Given the description of an element on the screen output the (x, y) to click on. 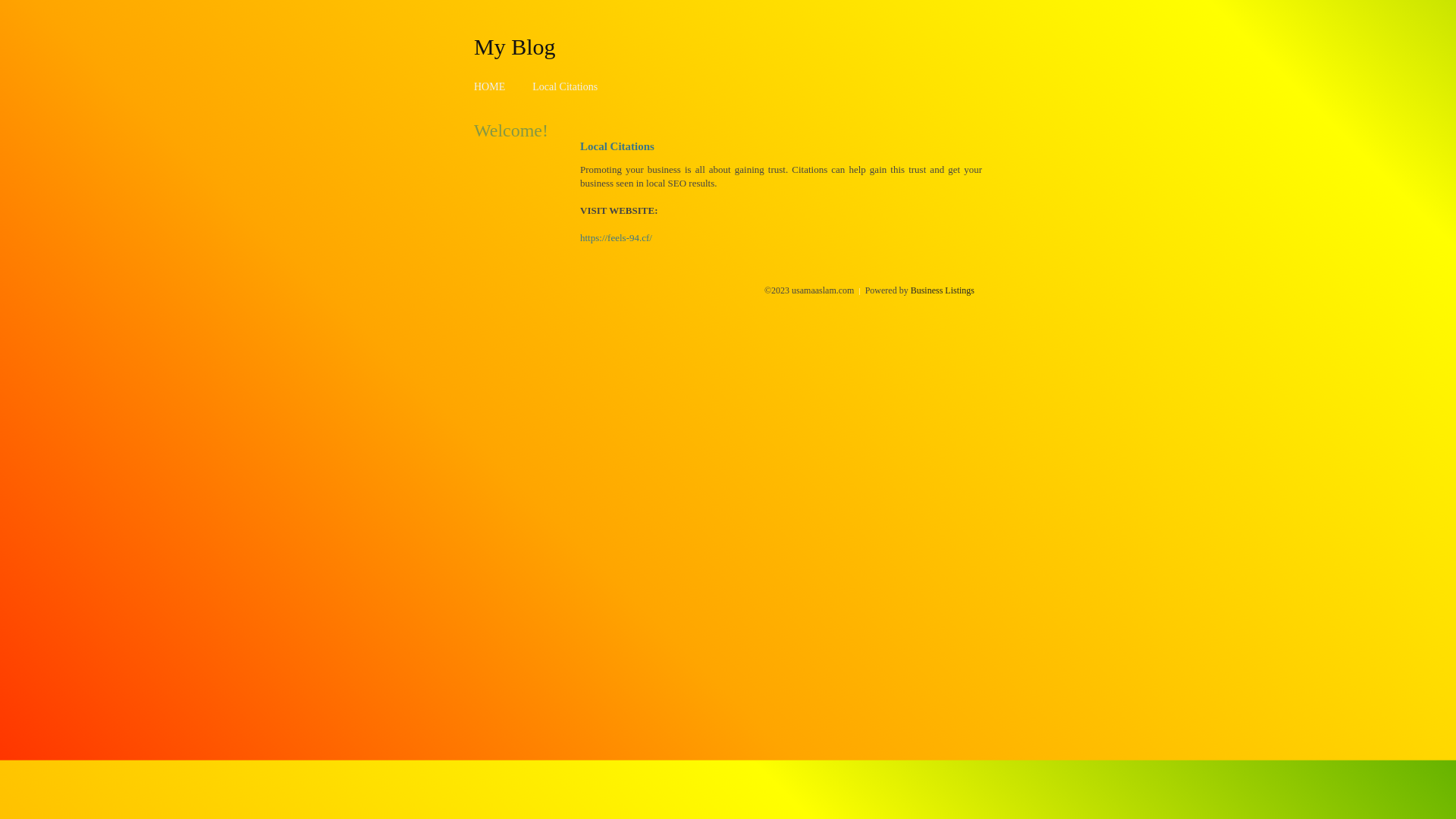
https://feels-94.cf/ Element type: text (616, 237)
Business Listings Element type: text (942, 290)
My Blog Element type: text (514, 46)
Local Citations Element type: text (564, 86)
HOME Element type: text (489, 86)
